Given the description of an element on the screen output the (x, y) to click on. 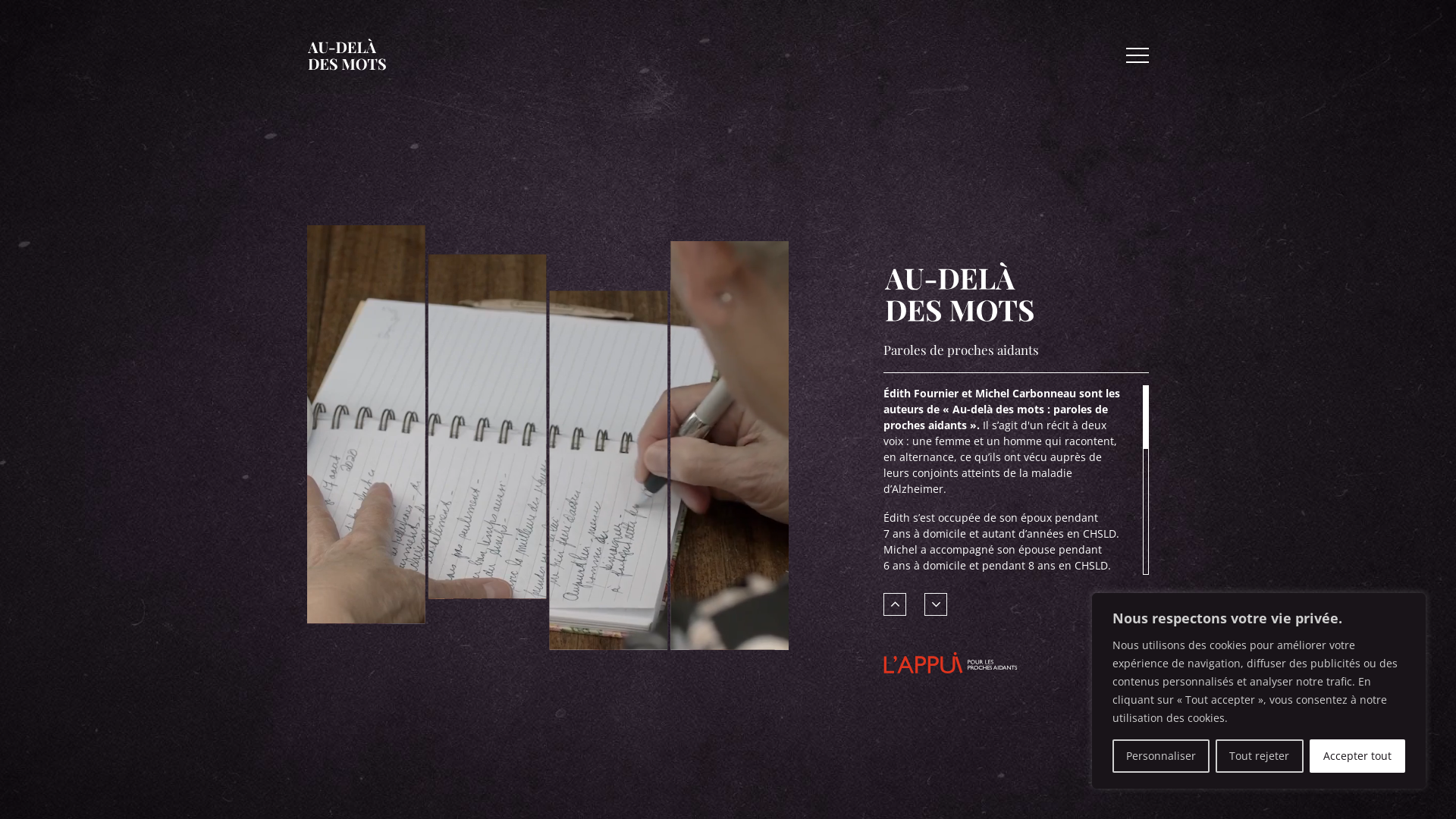
Personnaliser Element type: text (1160, 755)
Accepter tout Element type: text (1357, 755)
Tout rejeter Element type: text (1258, 755)
